Given the description of an element on the screen output the (x, y) to click on. 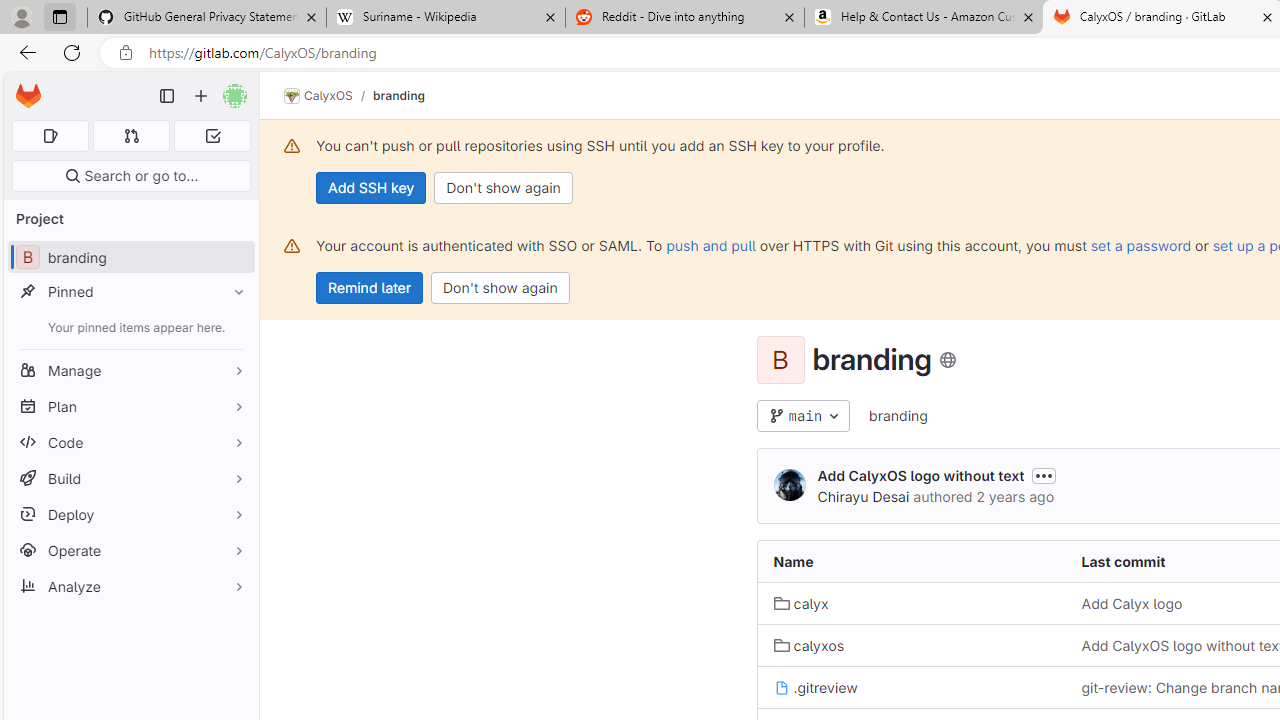
Assigned issues 0 (50, 136)
Create new... (201, 96)
Chirayu Desai's avatar (789, 485)
Bbranding (130, 257)
Build (130, 478)
calyxos (808, 645)
set a password (1140, 245)
Deploy (130, 514)
Toggle commit description (1044, 475)
Homepage (27, 96)
Primary navigation sidebar (167, 96)
Code (130, 442)
